Given the description of an element on the screen output the (x, y) to click on. 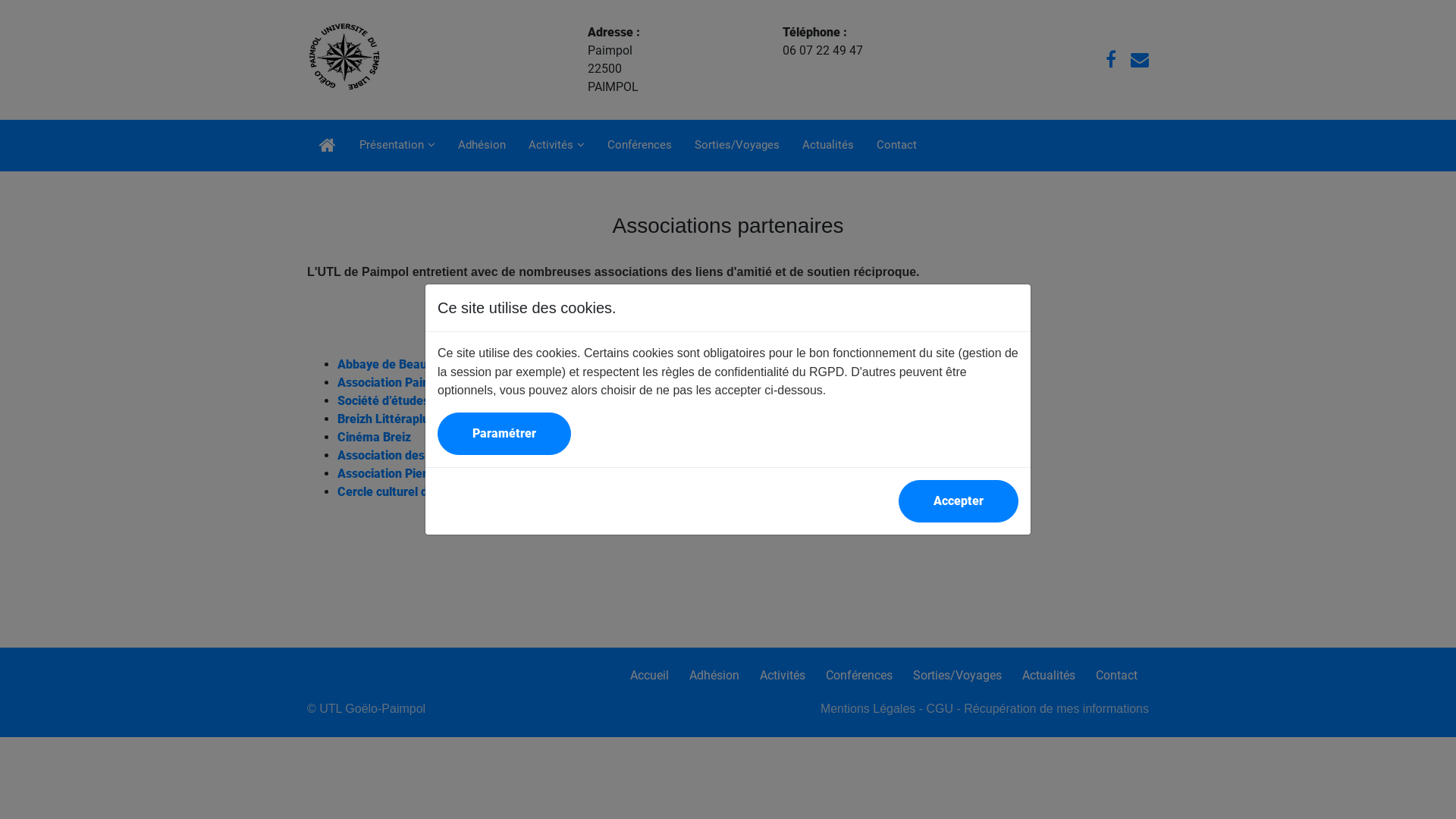
Accueil Element type: text (649, 675)
Sorties/Voyages Element type: text (957, 675)
Abbaye de Beauport Element type: text (393, 364)
Contact Element type: text (896, 143)
Accepter Element type: text (958, 501)
Contact Element type: text (1116, 675)
Association Paimpolaise des amis de la culture Element type: text (466, 382)
Cercle culturel du Goelo Anjela Duval Element type: text (438, 491)
CGU Element type: text (939, 708)
Sorties/Voyages Element type: text (736, 143)
